Given the description of an element on the screen output the (x, y) to click on. 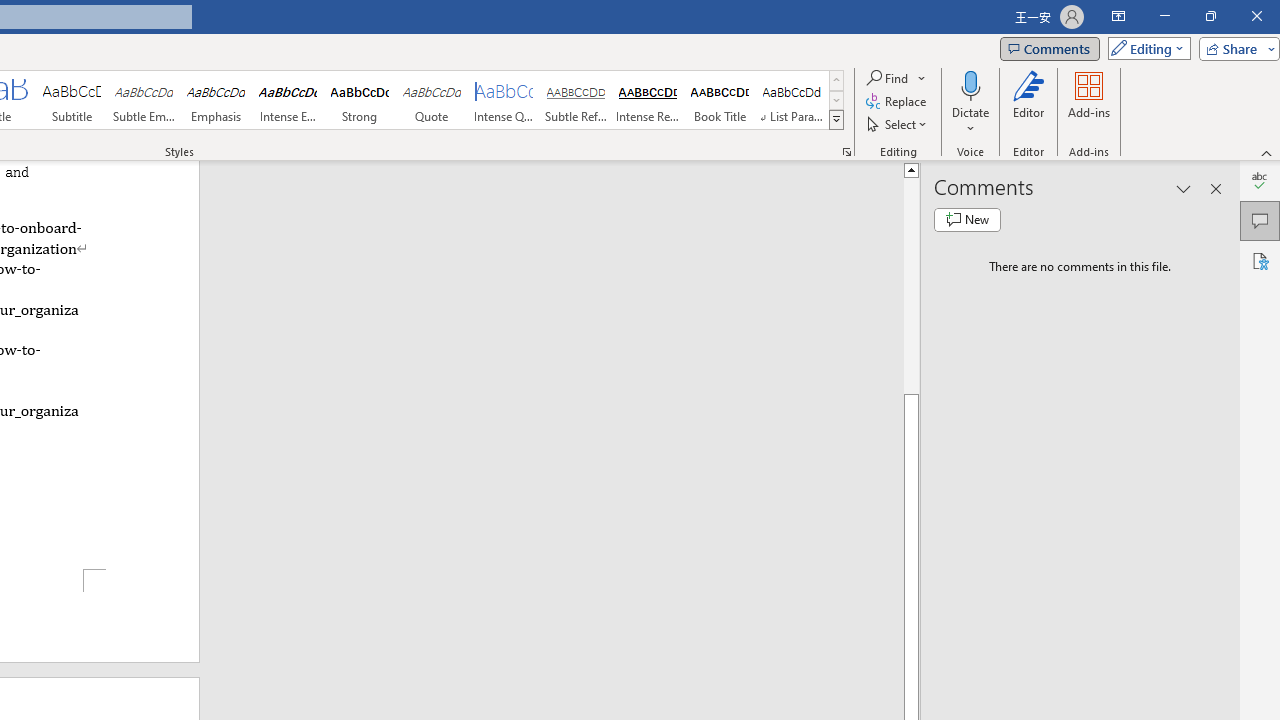
Styles... (846, 151)
Accessibility (1260, 260)
Share (1235, 48)
Editing (1144, 47)
Styles (836, 120)
Quote (431, 100)
Close (1256, 16)
Book Title (719, 100)
Find (888, 78)
Comments (1049, 48)
Subtitle (71, 100)
Page up (911, 285)
Subtle Reference (575, 100)
Strong (359, 100)
